Given the description of an element on the screen output the (x, y) to click on. 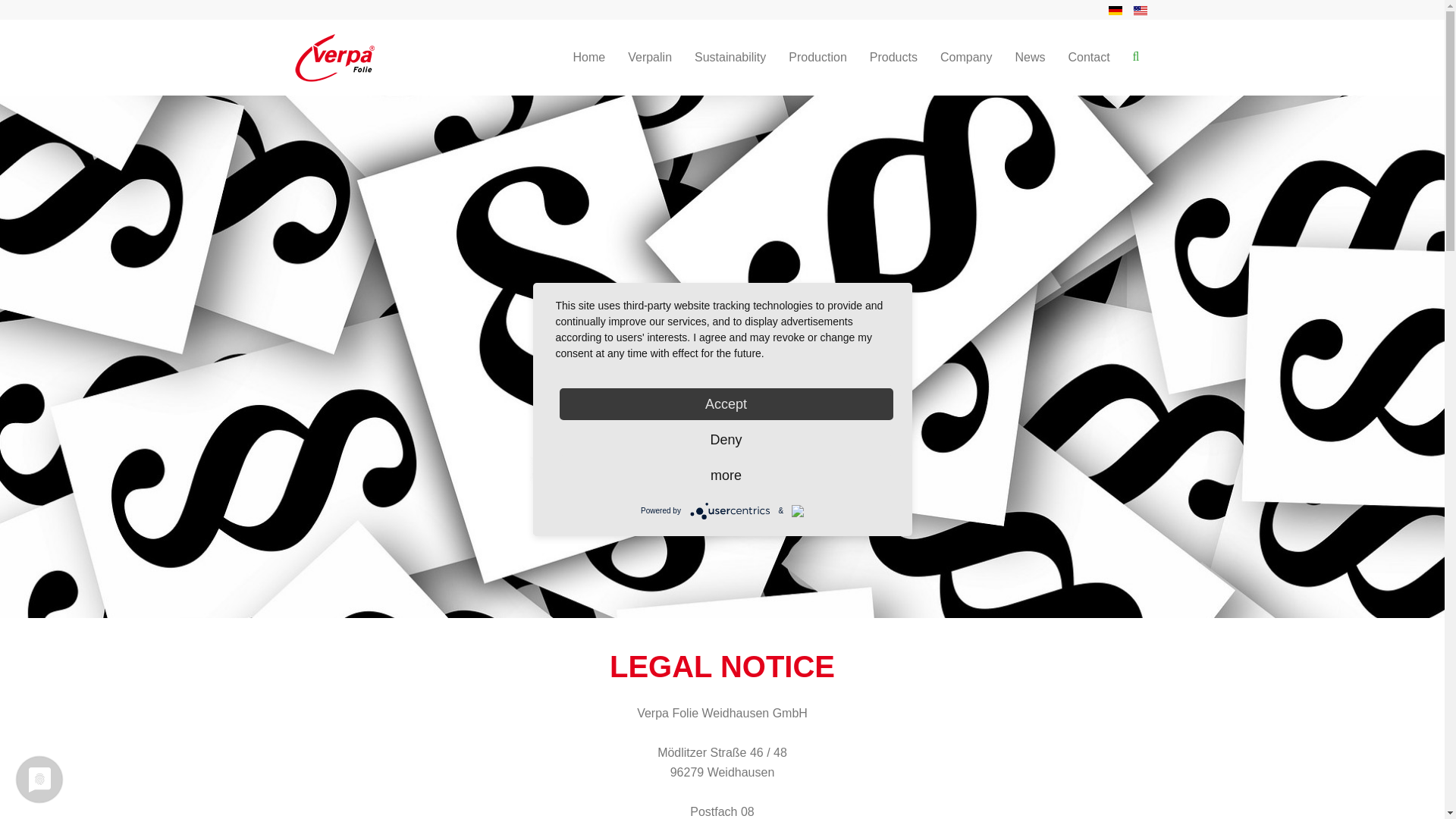
Sustainability (729, 57)
Production (818, 57)
Company (965, 57)
Products (893, 57)
